Given the description of an element on the screen output the (x, y) to click on. 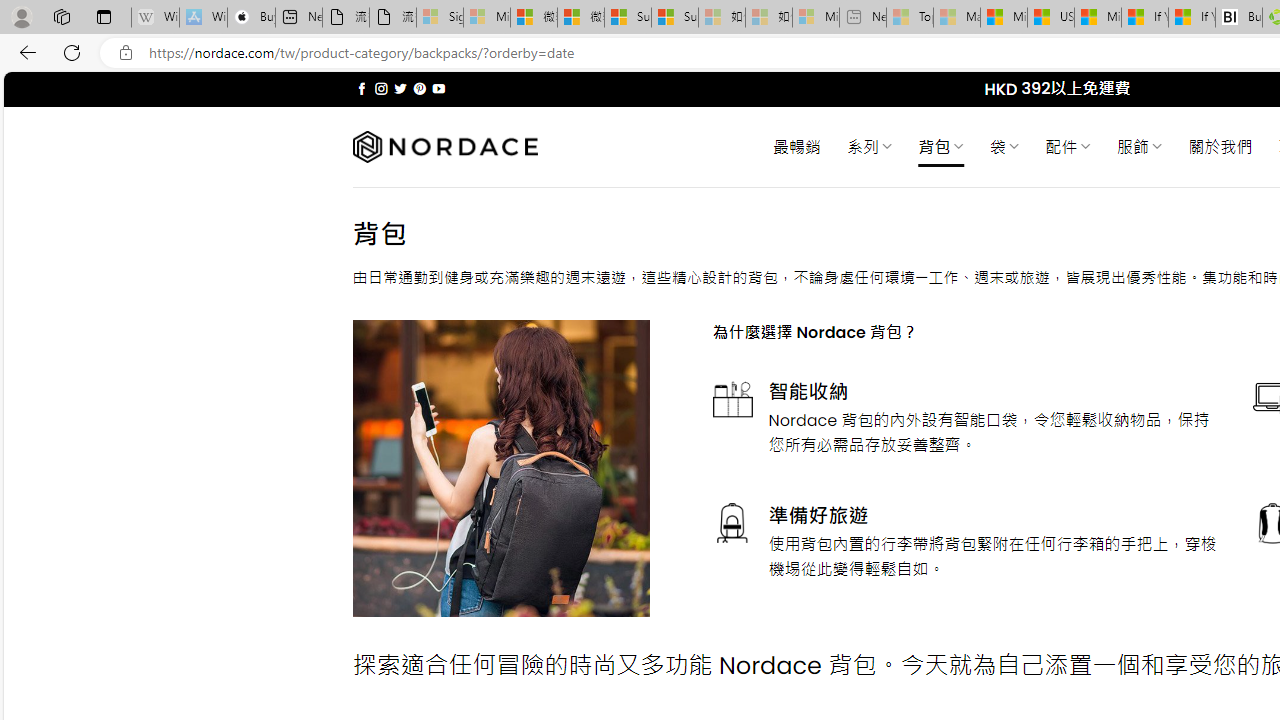
Buy iPad - Apple (251, 17)
Follow on YouTube (438, 88)
Follow on Pinterest (419, 88)
Microsoft Services Agreement - Sleeping (486, 17)
Wikipedia - Sleeping (155, 17)
Sign in to your Microsoft account - Sleeping (440, 17)
